Given the description of an element on the screen output the (x, y) to click on. 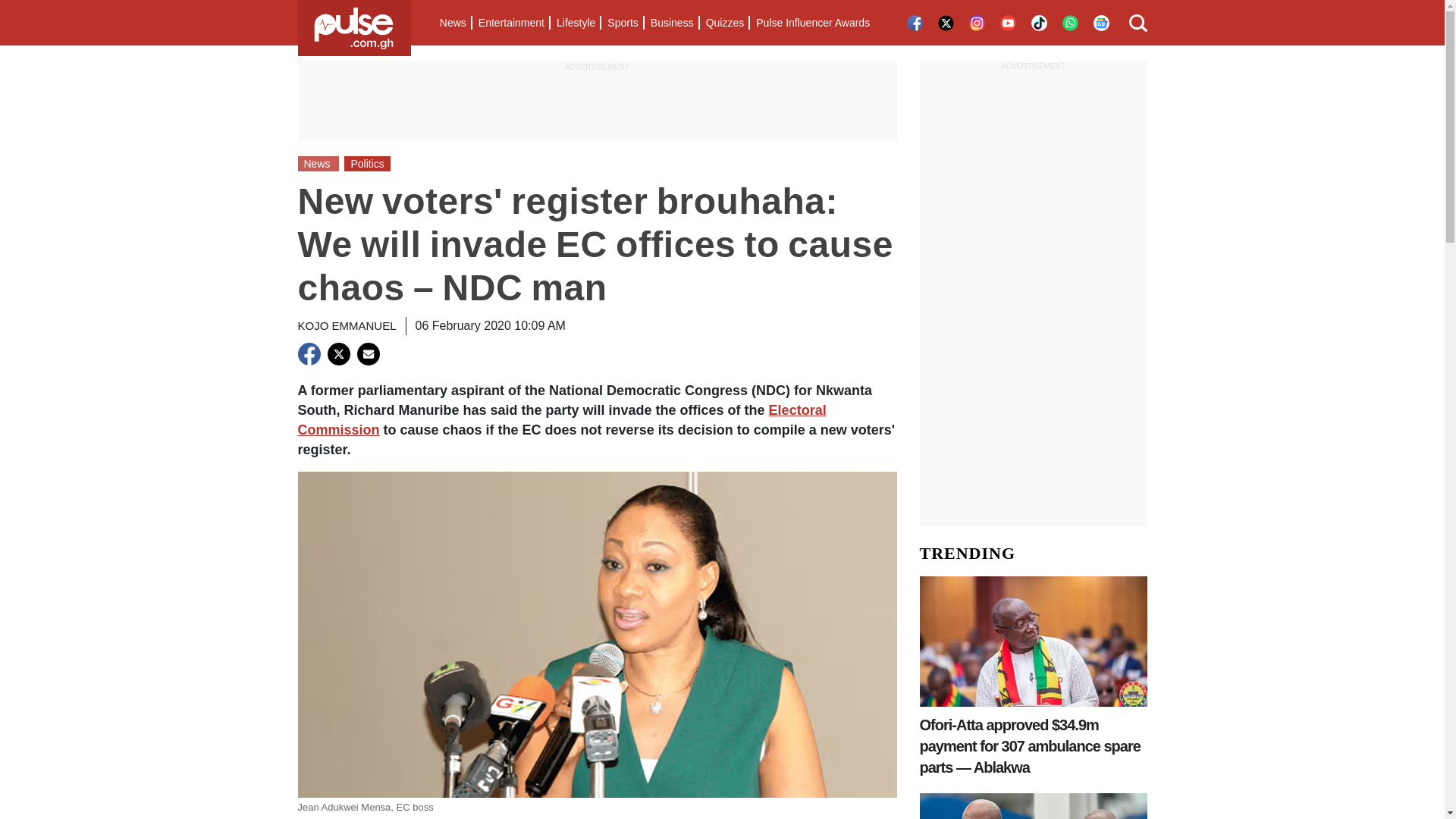
Business (672, 22)
Lifestyle (575, 22)
Sports (622, 22)
Entertainment (510, 22)
